Given the description of an element on the screen output the (x, y) to click on. 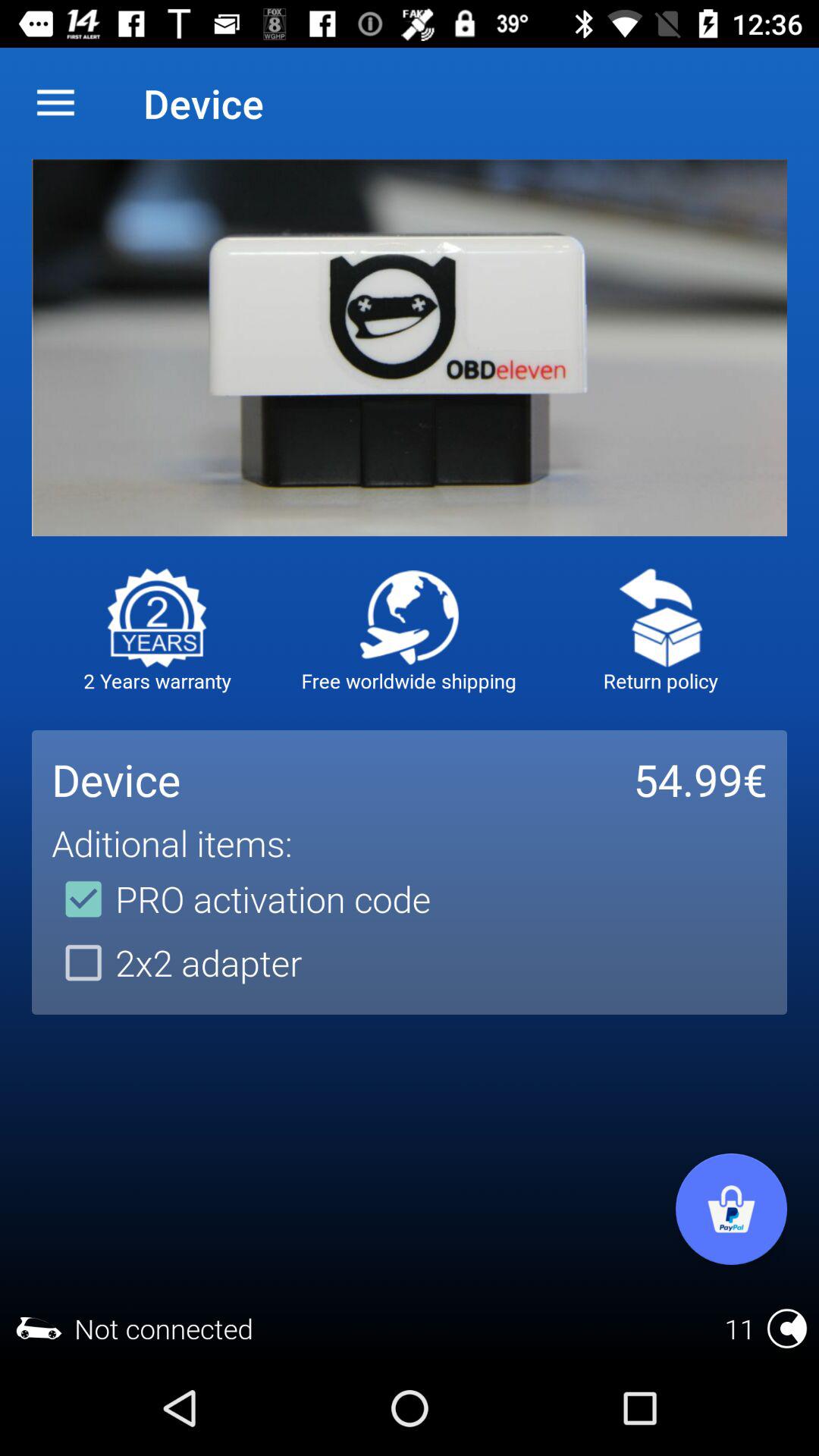
open item next to the device item (55, 103)
